Given the description of an element on the screen output the (x, y) to click on. 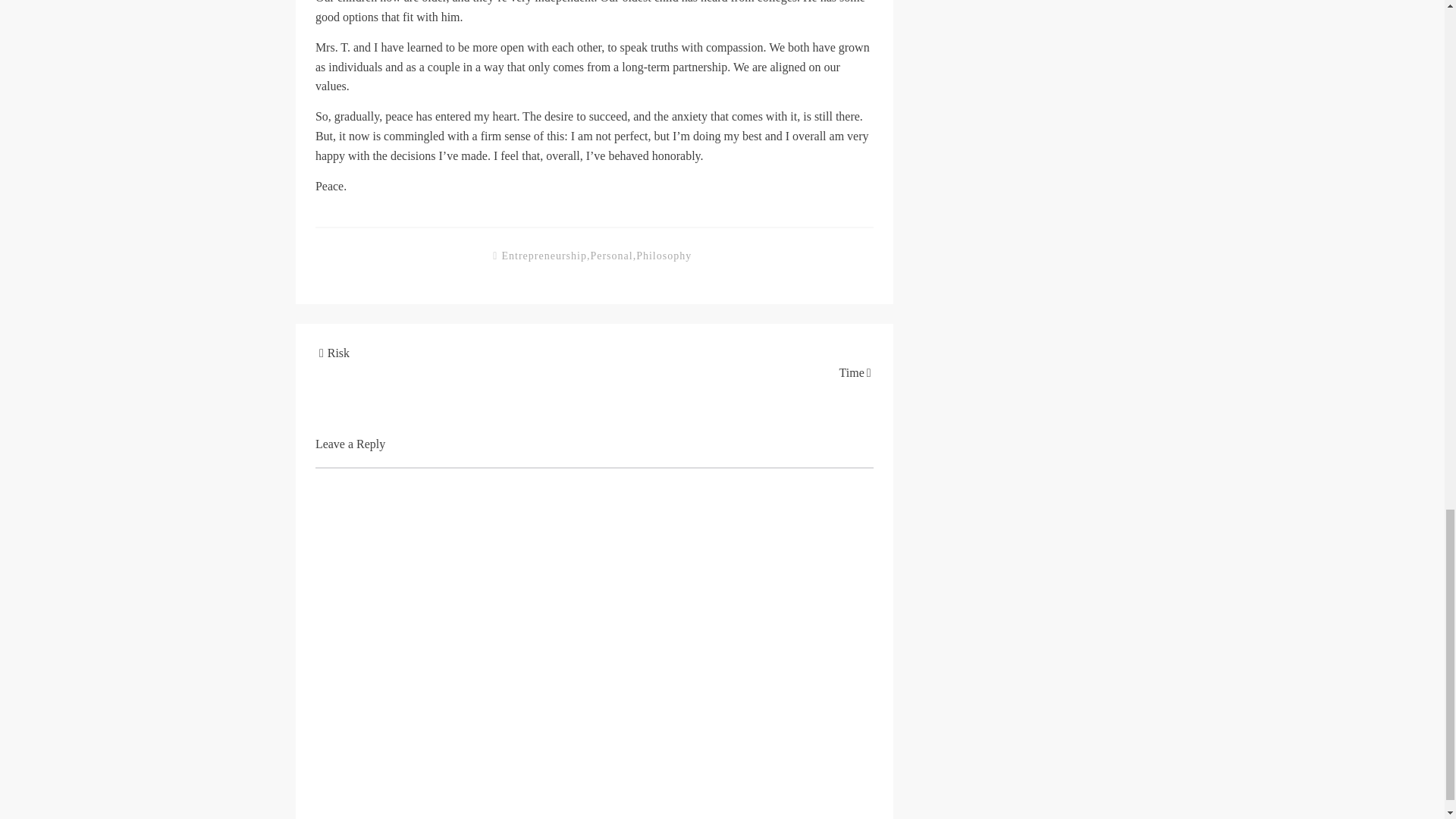
Time (852, 372)
Philosophy (663, 255)
Personal (610, 255)
Risk (338, 352)
Entrepreneurship (543, 255)
